Given the description of an element on the screen output the (x, y) to click on. 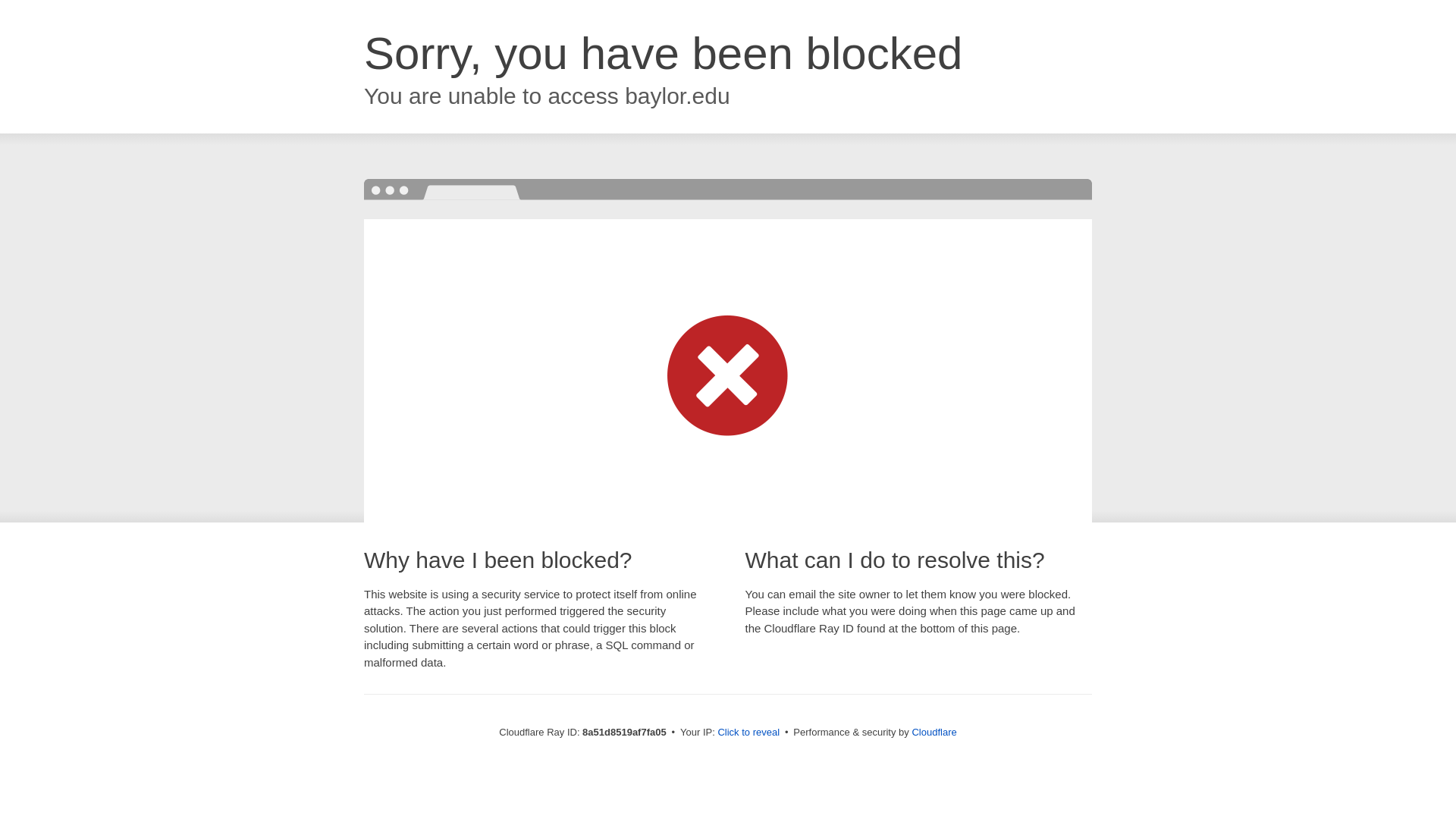
Cloudflare (933, 731)
Click to reveal (747, 732)
